Given the description of an element on the screen output the (x, y) to click on. 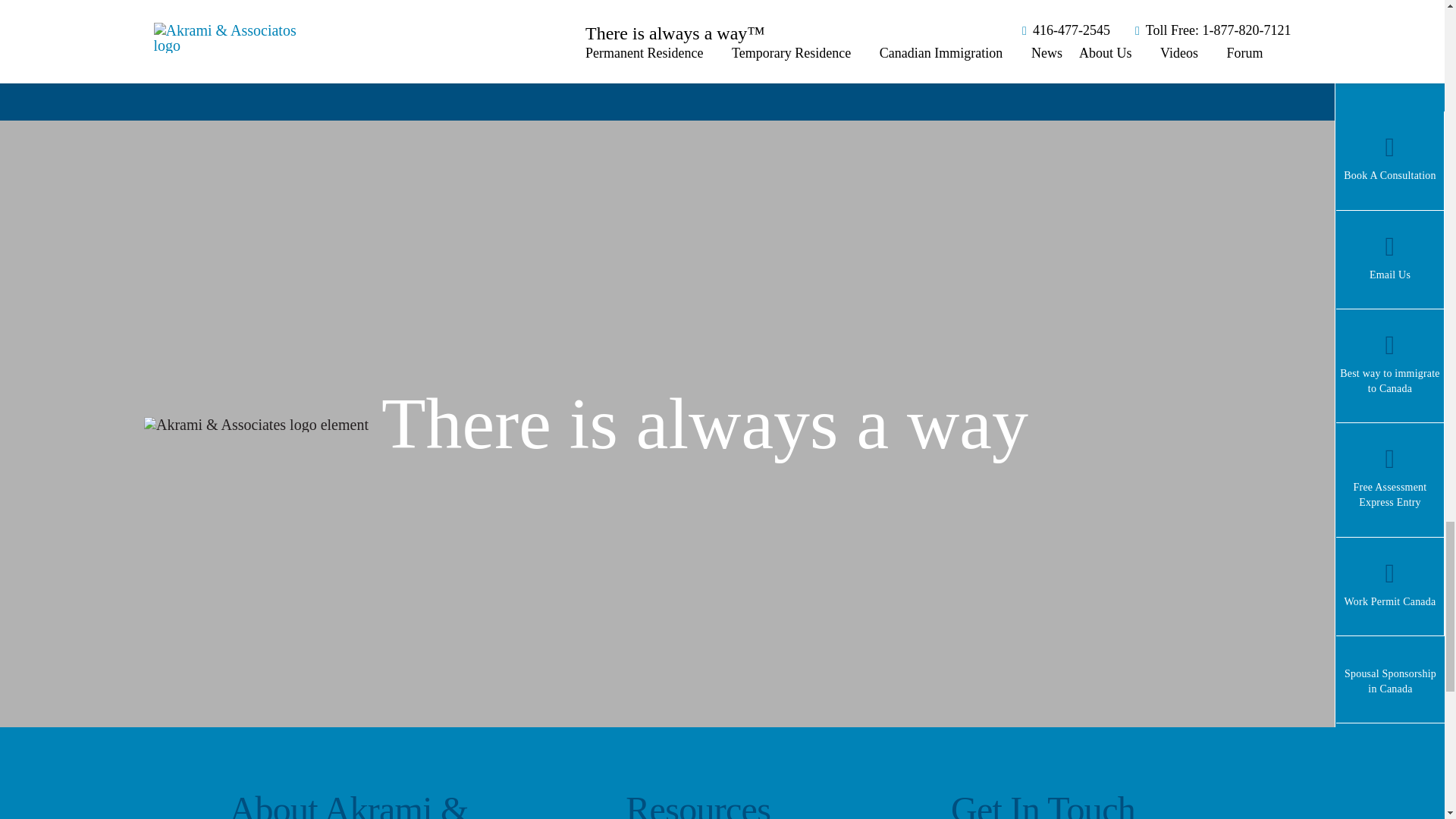
Subscribe (198, 20)
logo-element (256, 424)
